Given the description of an element on the screen output the (x, y) to click on. 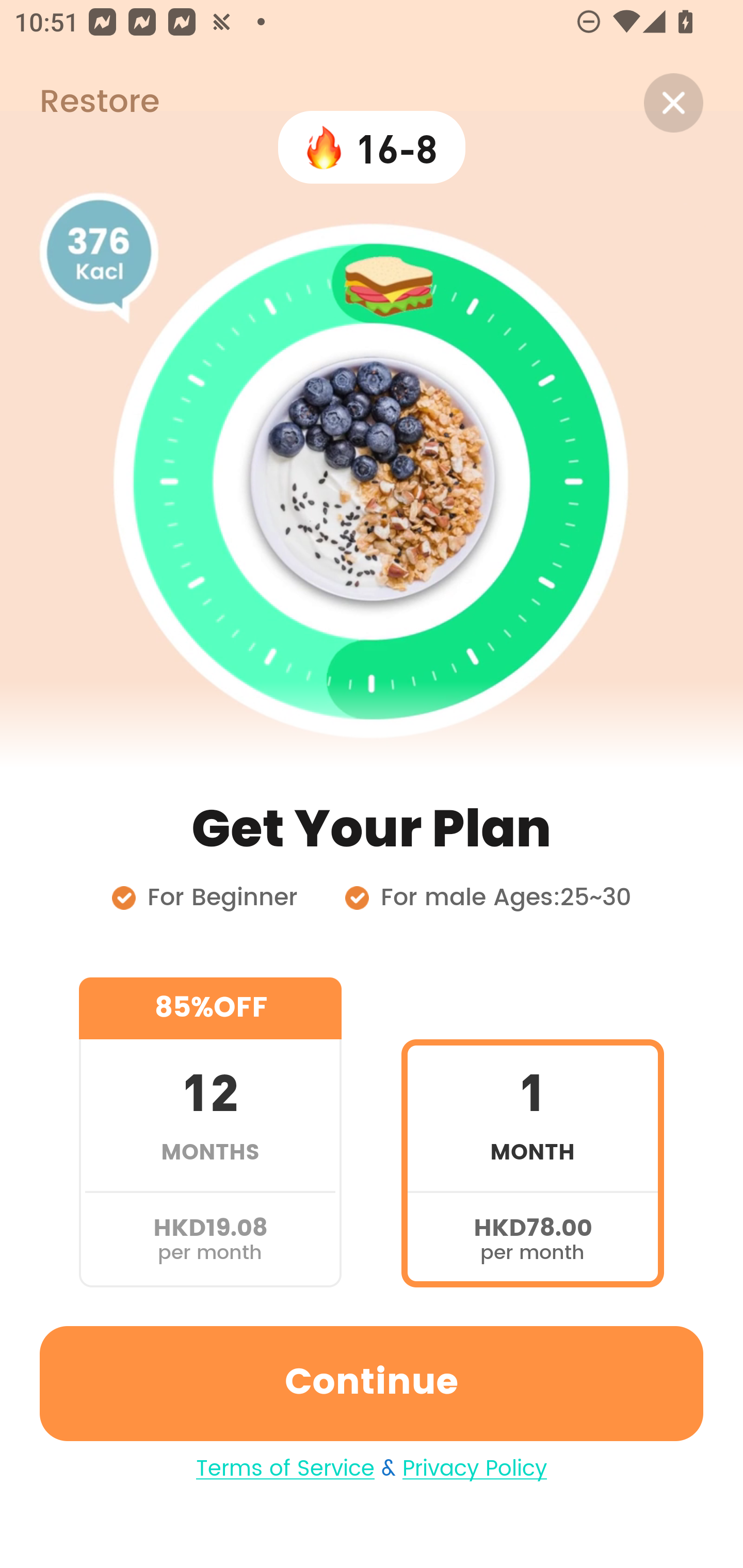
Restore (79, 102)
85%OFF 12 MONTHS per month HKD19.08 (209, 1131)
1 MONTH per month HKD78.00 (532, 1131)
Continue (371, 1383)
